Given the description of an element on the screen output the (x, y) to click on. 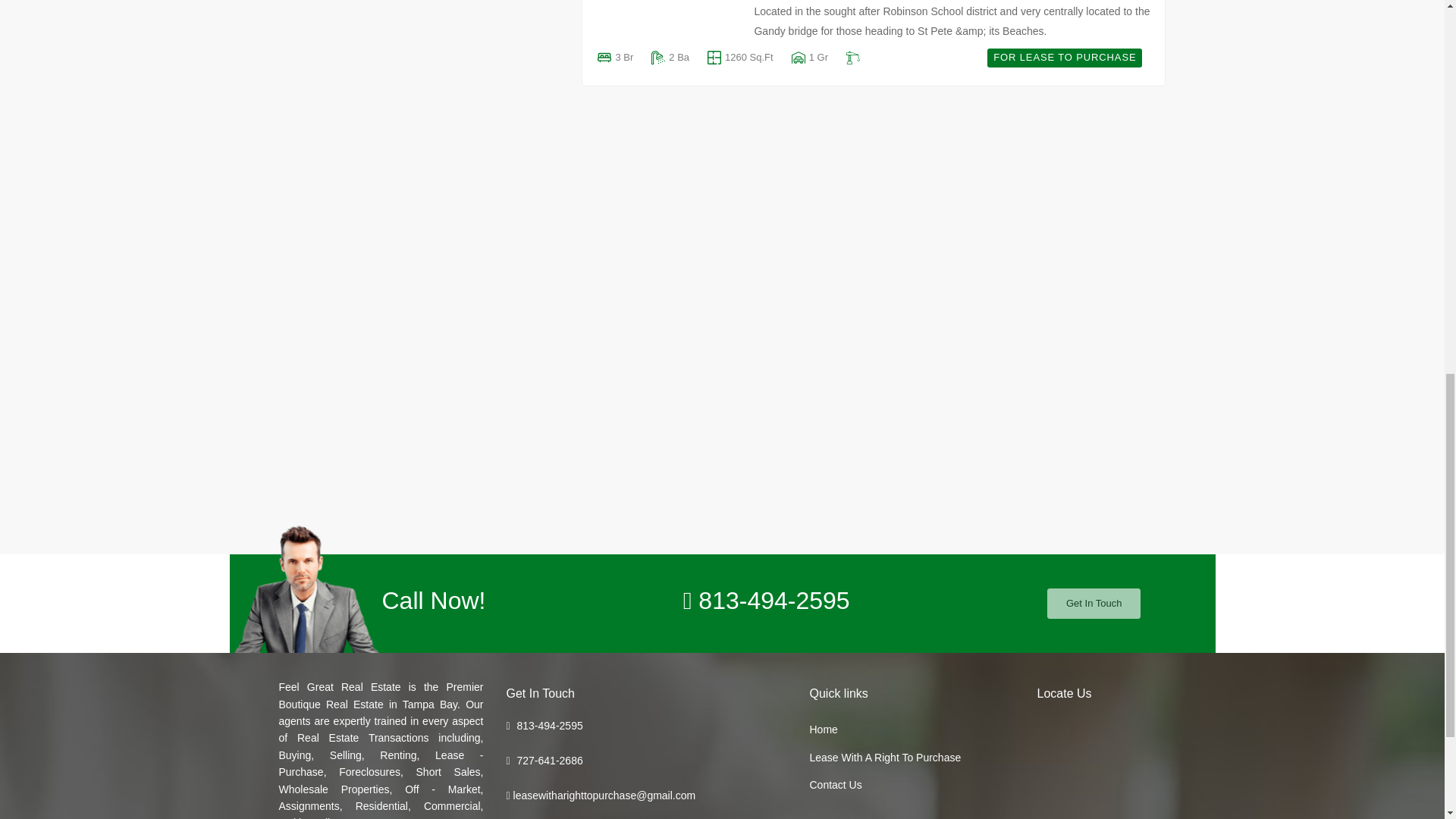
FOR LEASE TO PURCHASE (739, 57)
